Given the description of an element on the screen output the (x, y) to click on. 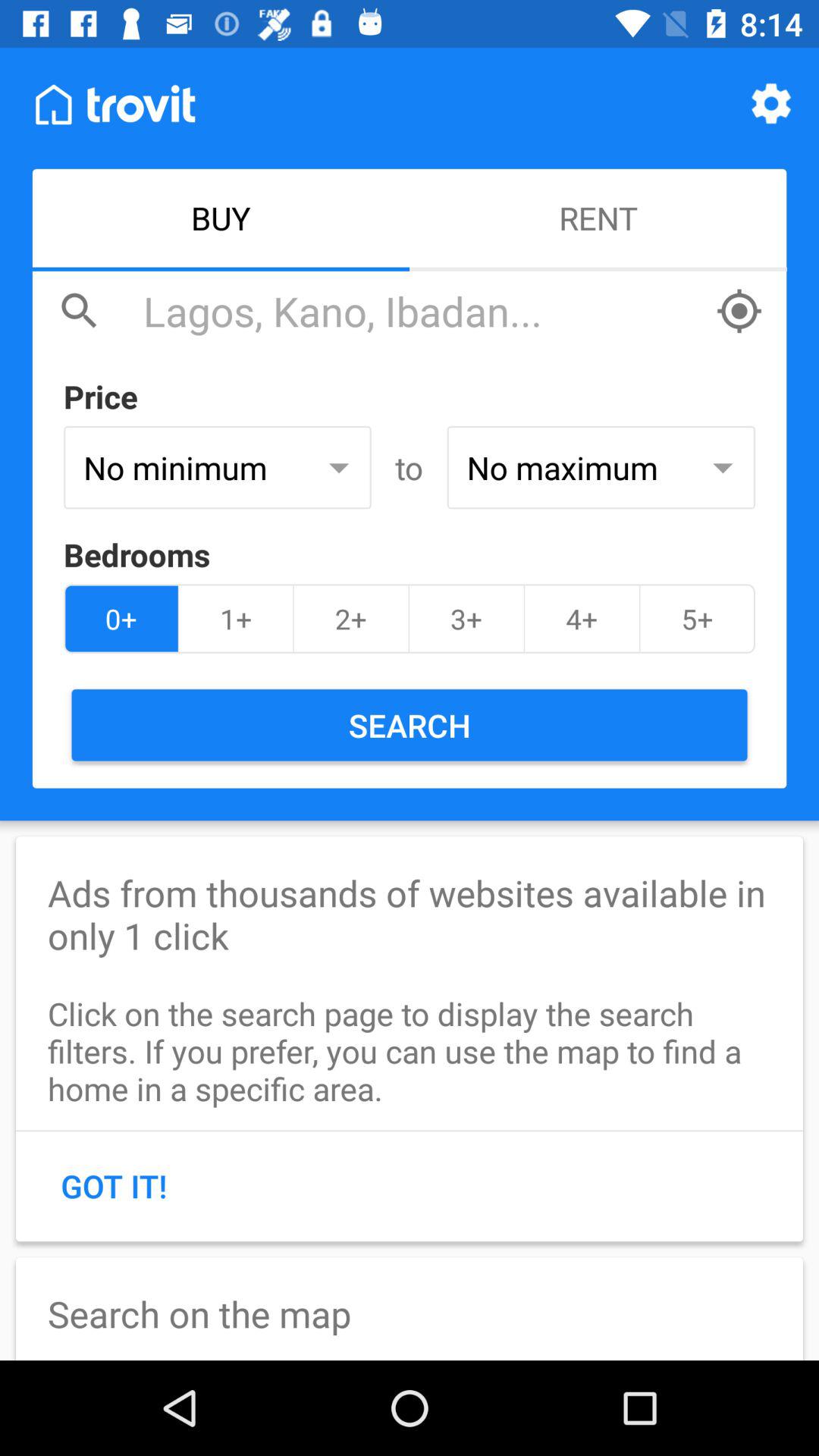
click the 2+ (350, 618)
